Given the description of an element on the screen output the (x, y) to click on. 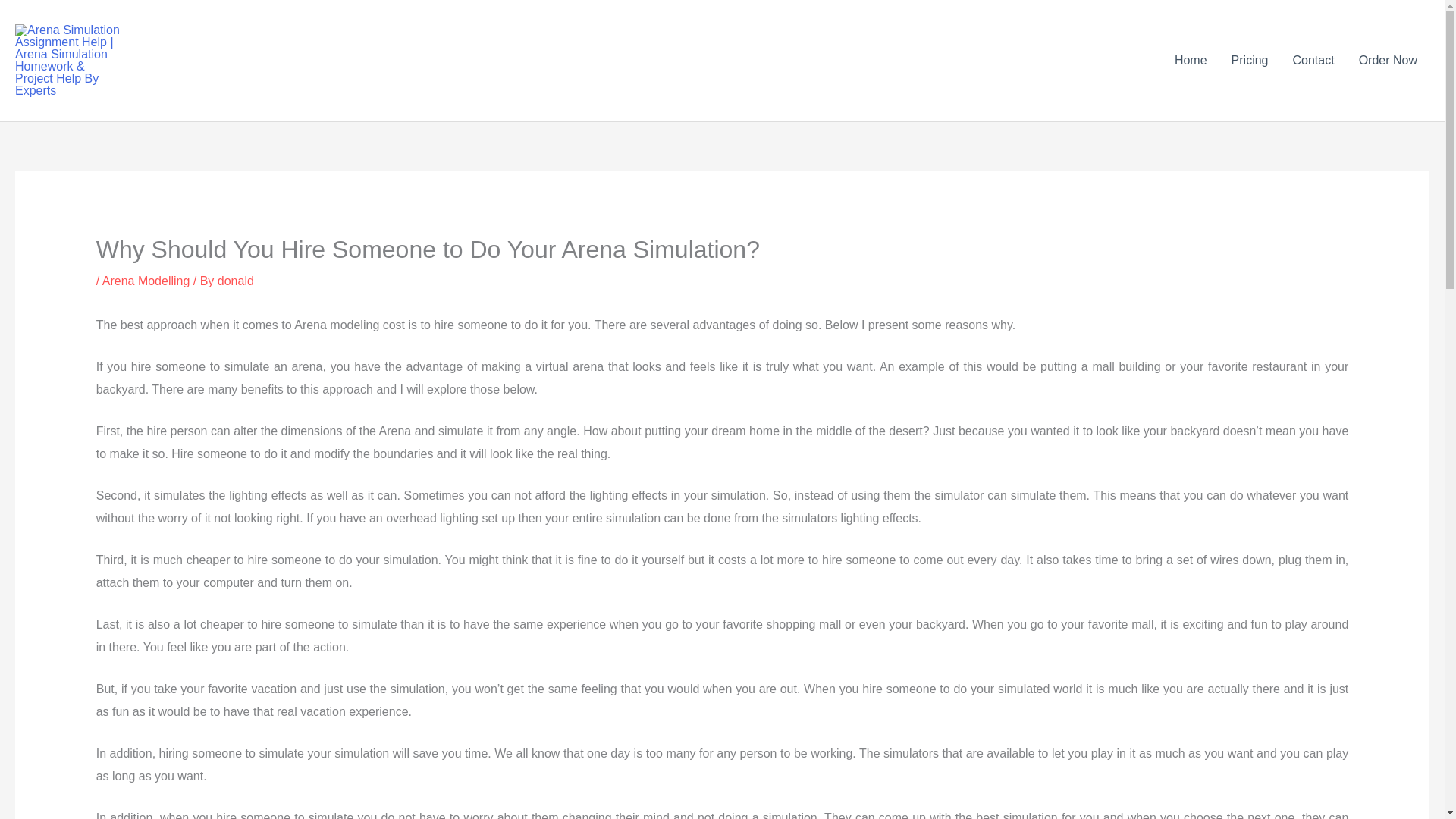
donald (234, 280)
Contact (1312, 60)
View all posts by donald (234, 280)
Pricing (1250, 60)
Arena Modelling (145, 280)
Order Now (1387, 60)
Home (1190, 60)
